Given the description of an element on the screen output the (x, y) to click on. 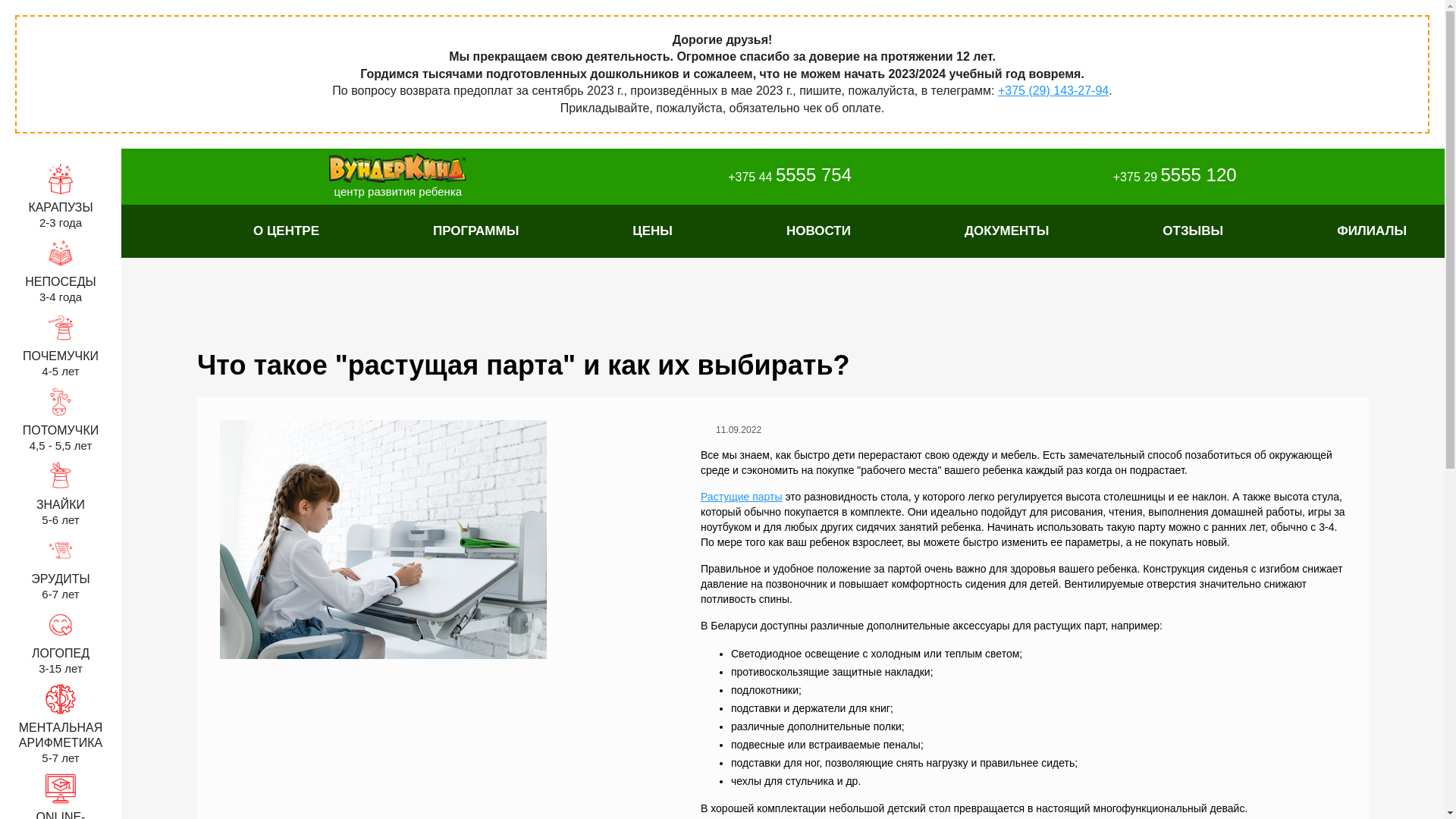
+375 44 5555 754 Element type: text (775, 176)
+375 (29) 143-27-94 Element type: text (1052, 90)
+375 29 5555 120 Element type: text (1160, 176)
